Given the description of an element on the screen output the (x, y) to click on. 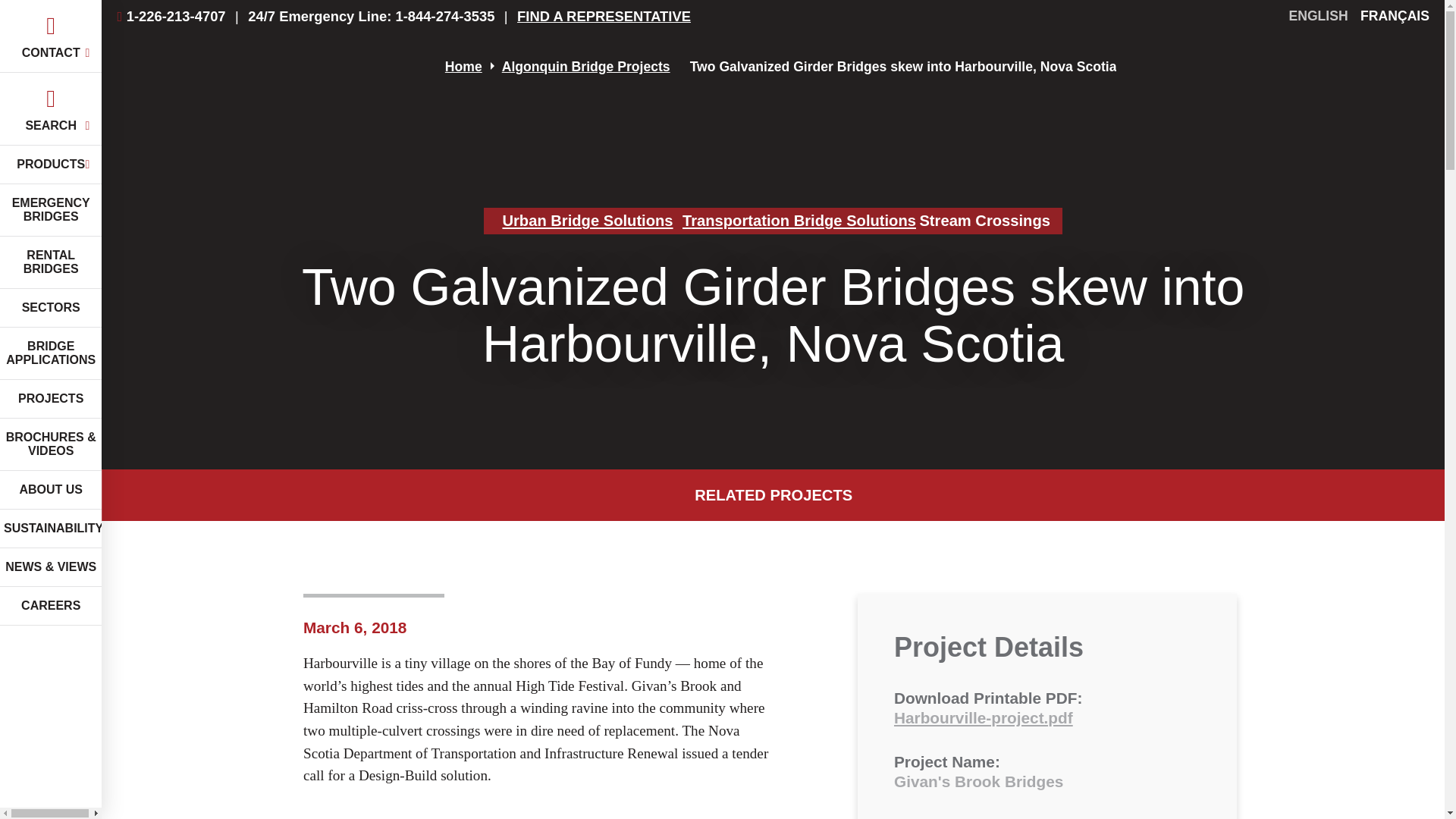
SEARCH (50, 108)
ABOUT US (50, 489)
SECTORS (50, 308)
CAREERS (50, 606)
Go to Home. (463, 66)
return home (264, 67)
Go to Algonquin Bridge Projects. (585, 66)
PROJECTS (50, 399)
PRODUCTS (50, 164)
RENTAL BRIDGES (50, 262)
BRIDGE APPLICATIONS (50, 353)
CONTACT (50, 36)
SUSTAINABILITY (50, 528)
EMERGENCY BRIDGES (50, 210)
